Given the description of an element on the screen output the (x, y) to click on. 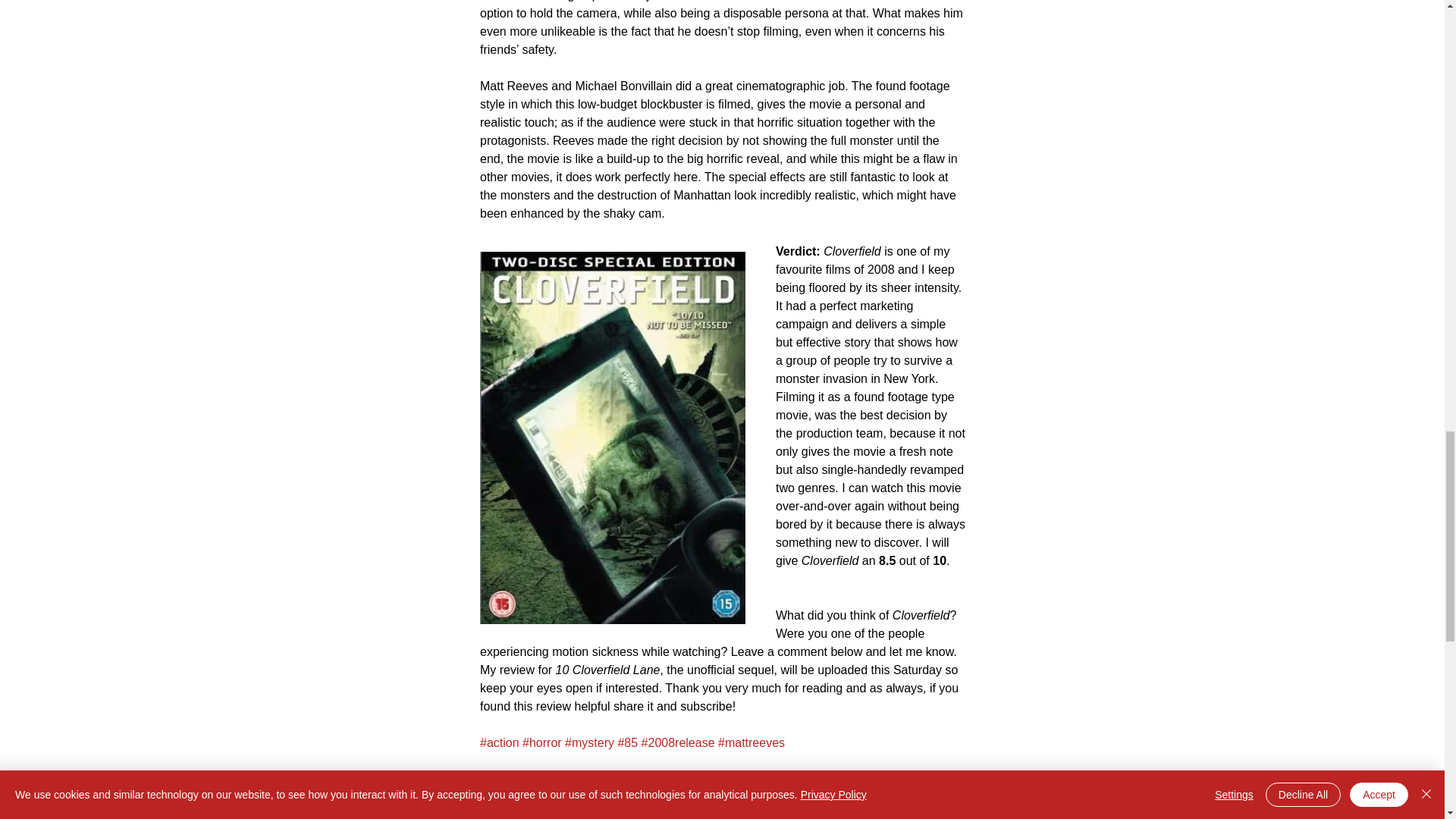
T.J. Miller (769, 810)
2008 release (604, 810)
Matt Reeves (690, 810)
Jessica Lucas (850, 810)
8.5 out of 10 (518, 810)
